Given the description of an element on the screen output the (x, y) to click on. 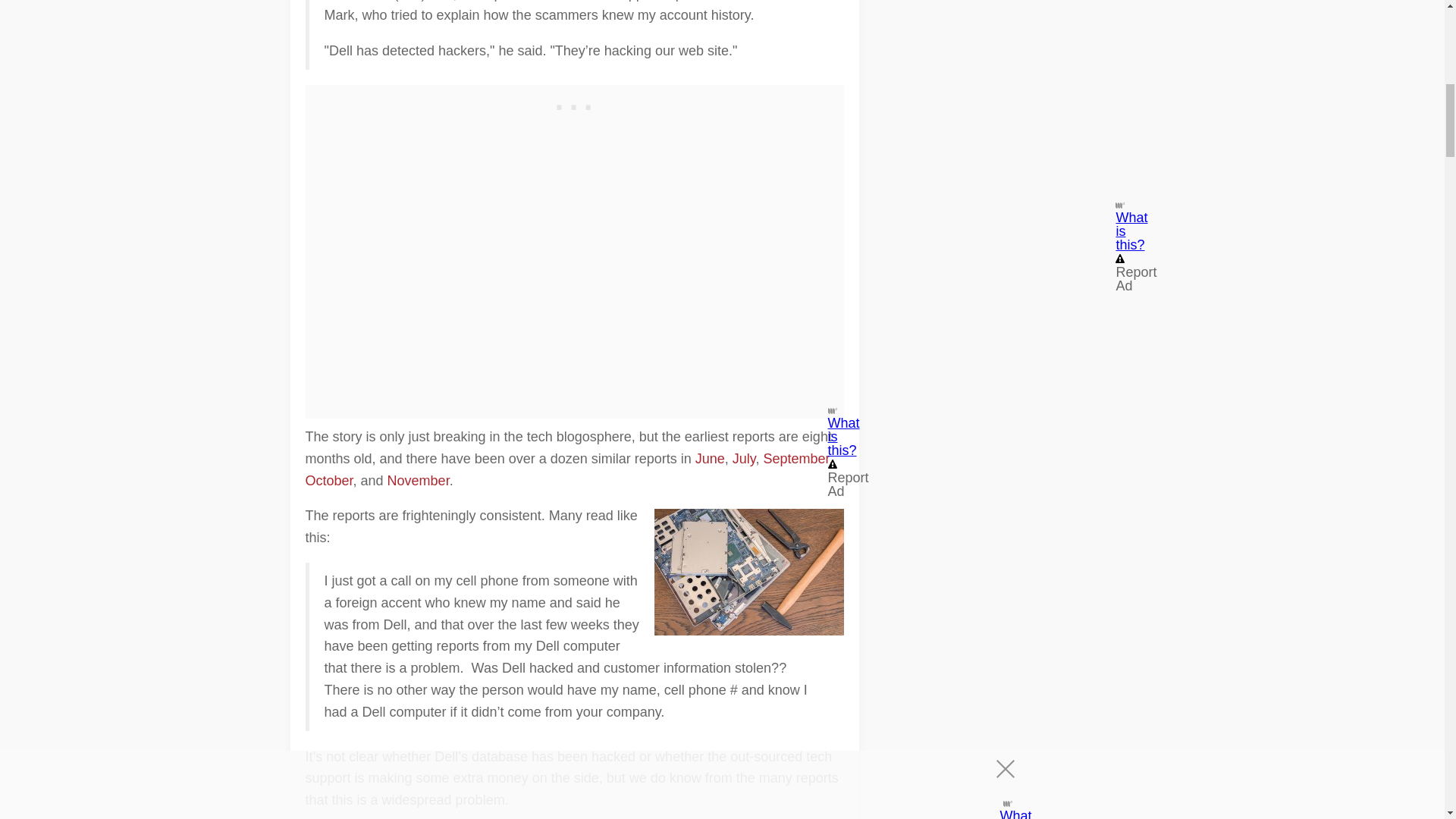
June (710, 458)
November (418, 480)
3rd party ad content (573, 103)
September (795, 458)
July (743, 458)
October (328, 480)
